Given the description of an element on the screen output the (x, y) to click on. 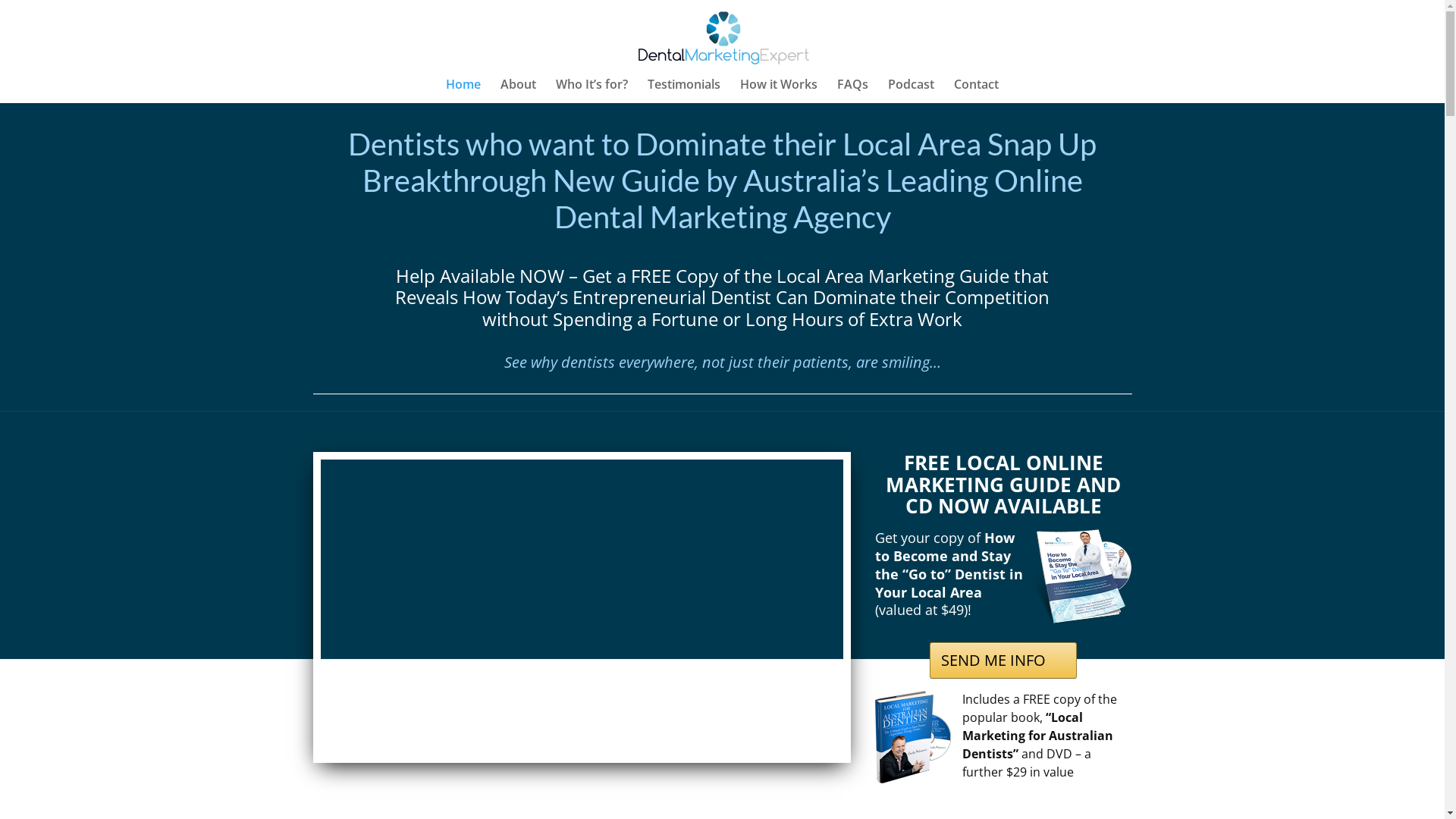
About Element type: text (518, 90)
Testimonials Element type: text (683, 90)
Contact Element type: text (975, 90)
Home Element type: text (462, 90)
SEND ME INFO Element type: text (1002, 660)
How it Works Element type: text (778, 90)
FAQs Element type: text (852, 90)
Podcast Element type: text (911, 90)
